Given the description of an element on the screen output the (x, y) to click on. 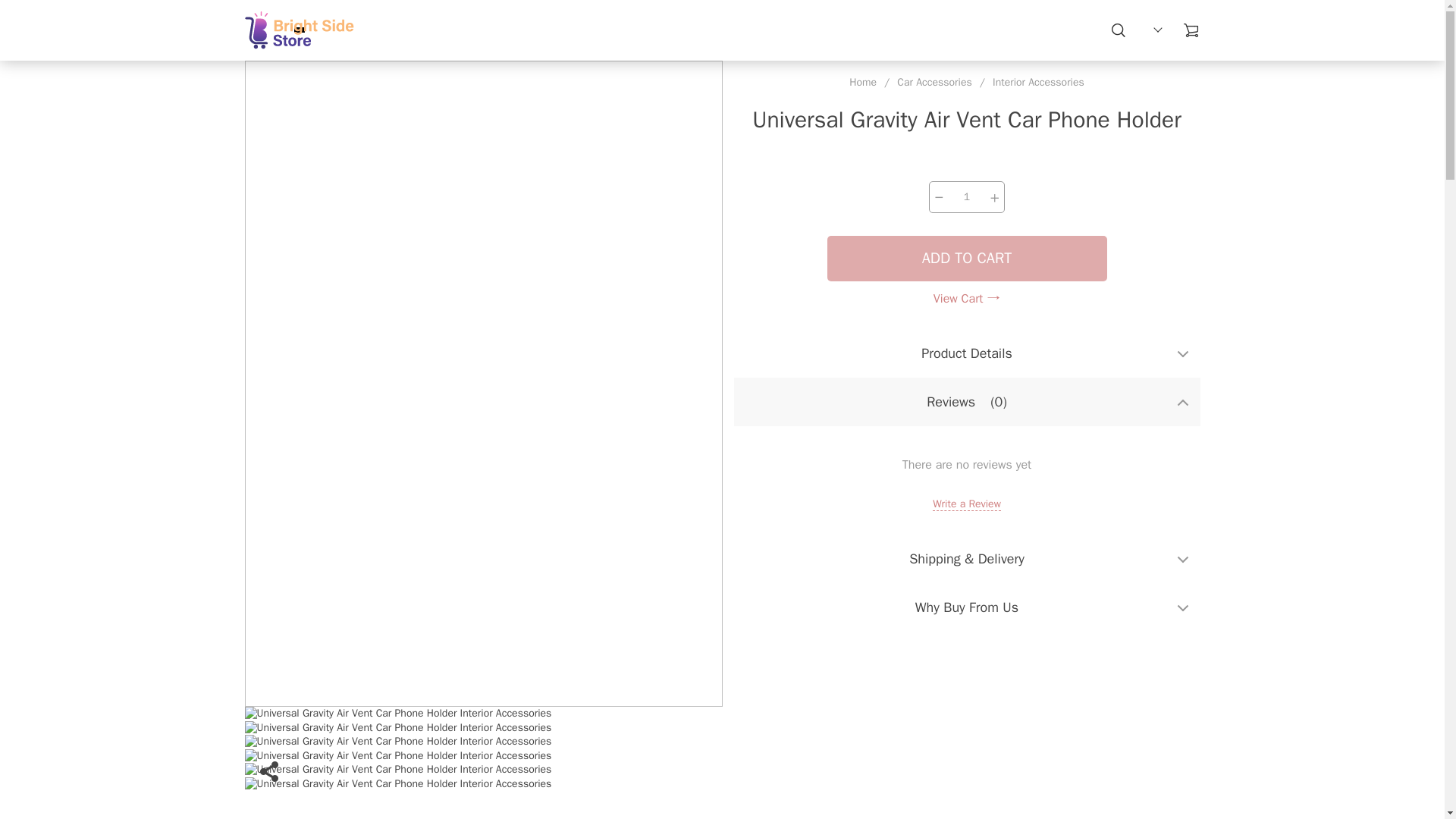
1 (966, 196)
